Given the description of an element on the screen output the (x, y) to click on. 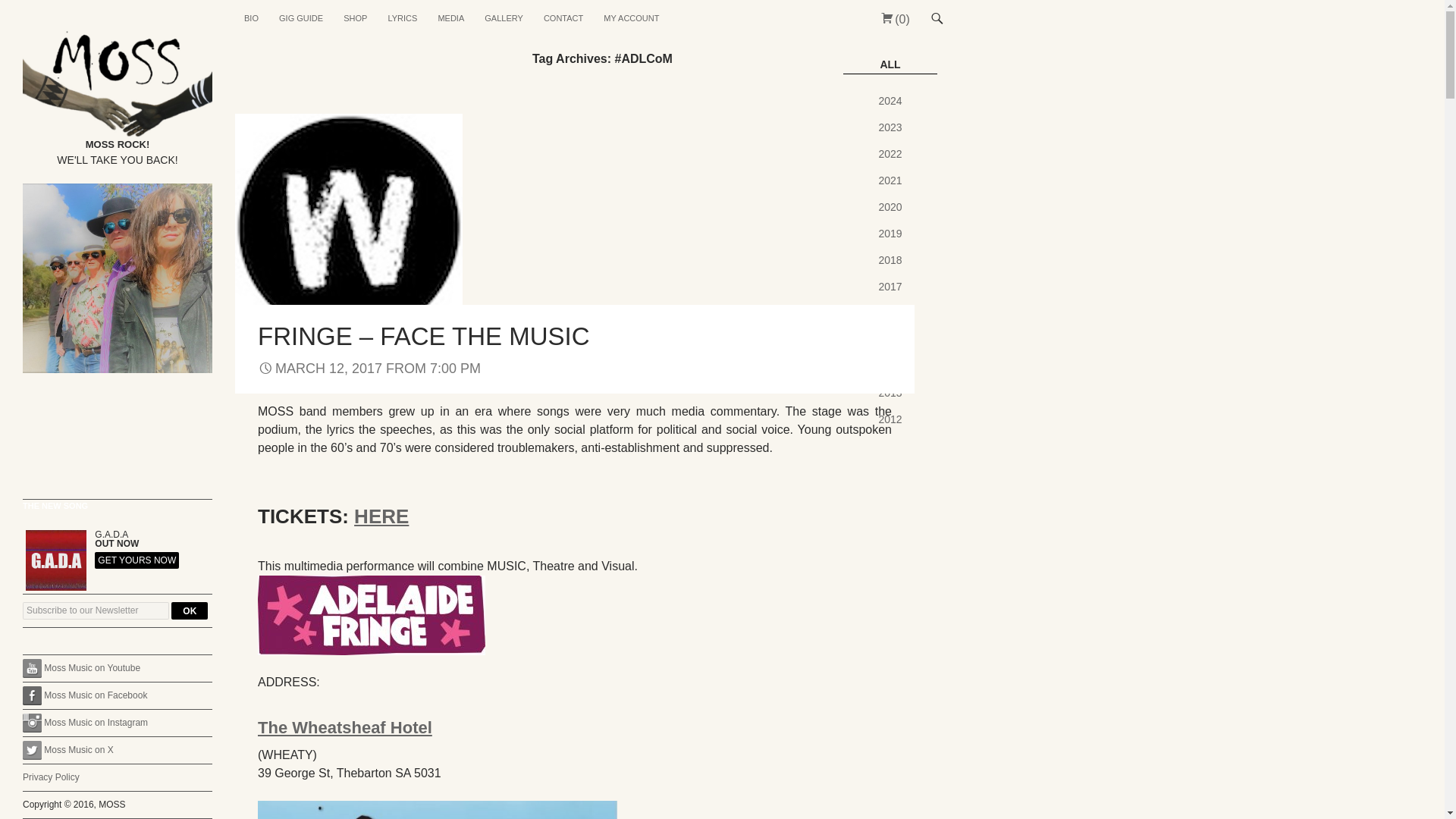
OK (189, 610)
MARCH 12, 2017 FROM 7:00 PM (368, 368)
Moss Music (61, 18)
BIO (250, 18)
MY ACCOUNT (631, 18)
The Wheatsheaf Hotel (344, 727)
LYRICS (402, 18)
CONTACT (563, 18)
GIG GUIDE (300, 18)
MEDIA (450, 18)
GALLERY (504, 18)
SHOP (354, 18)
HERE (381, 516)
